Given the description of an element on the screen output the (x, y) to click on. 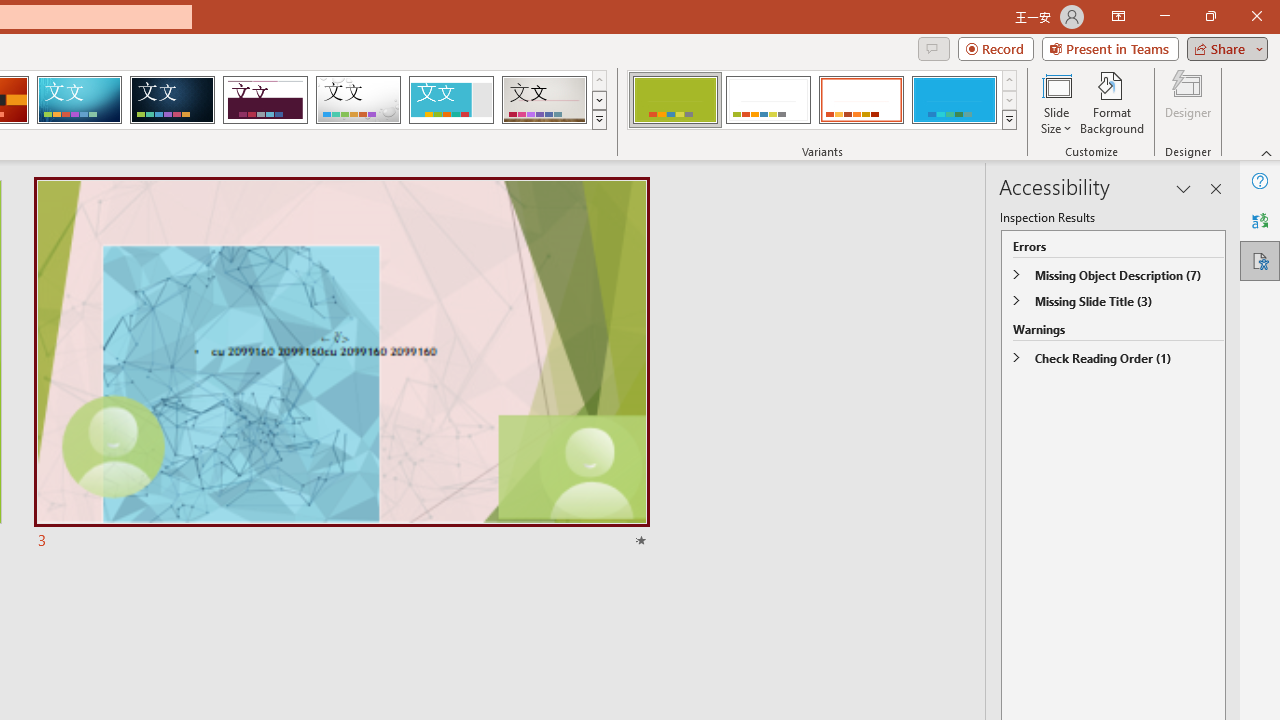
Gallery (544, 100)
Frame (450, 100)
Circuit (79, 100)
Dividend (265, 100)
Format Background (1111, 102)
